Given the description of an element on the screen output the (x, y) to click on. 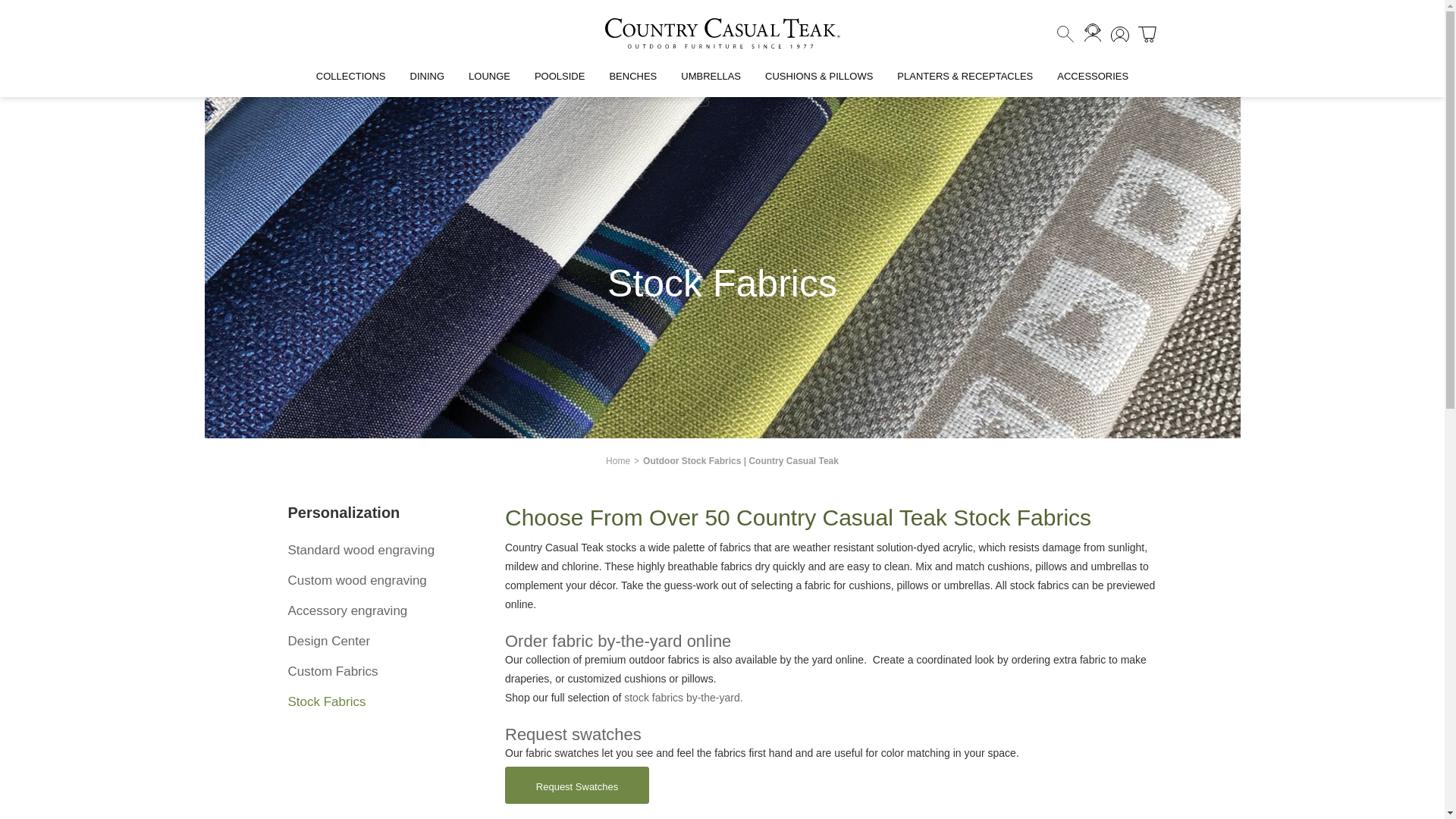
Sign In (1119, 33)
Cart (1147, 33)
DINING (427, 81)
LOUNGE (489, 81)
Country Casual Teak - Teak Outdoor Furniture Since 1977 (722, 33)
Open search (1065, 34)
Skip to main content (48, 1)
Contact (1092, 32)
COLLECTIONS (350, 81)
Search (1065, 34)
Go to Home Page (617, 460)
